Given the description of an element on the screen output the (x, y) to click on. 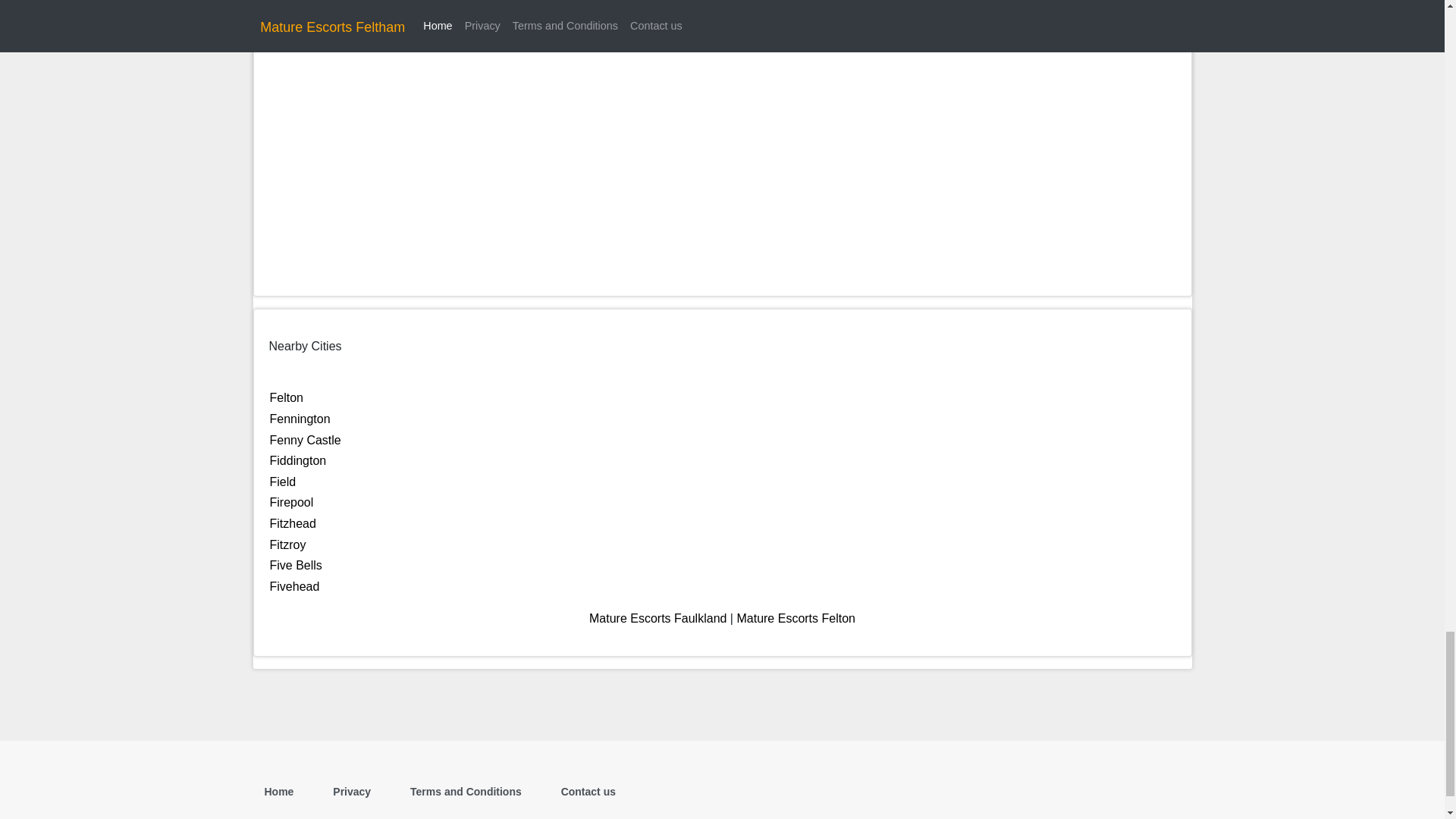
Mature Escorts Felton (796, 617)
Fivehead (294, 585)
Field (283, 481)
Fenny Castle (304, 440)
Fennington (299, 418)
Felton (285, 397)
Fitzroy (287, 543)
Five Bells (295, 564)
Mature Escorts Faulkland (657, 617)
Fitzhead (292, 522)
Fiddington (297, 460)
Firepool (291, 502)
